Given the description of an element on the screen output the (x, y) to click on. 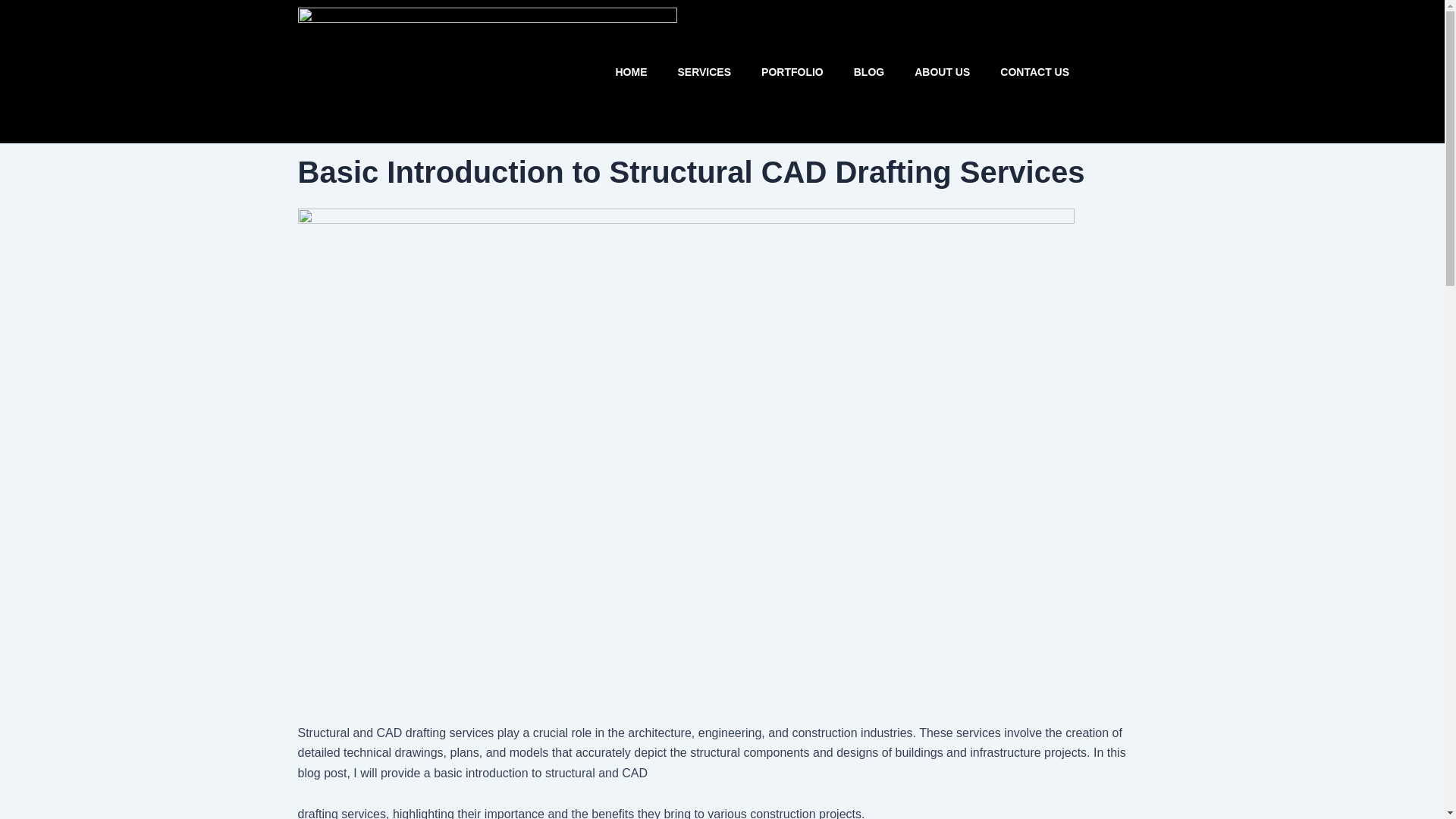
BLOG (868, 71)
ABOUT US (942, 71)
SERVICES (704, 71)
PORTFOLIO (791, 71)
HOME (630, 71)
CONTACT US (1034, 71)
